Given the description of an element on the screen output the (x, y) to click on. 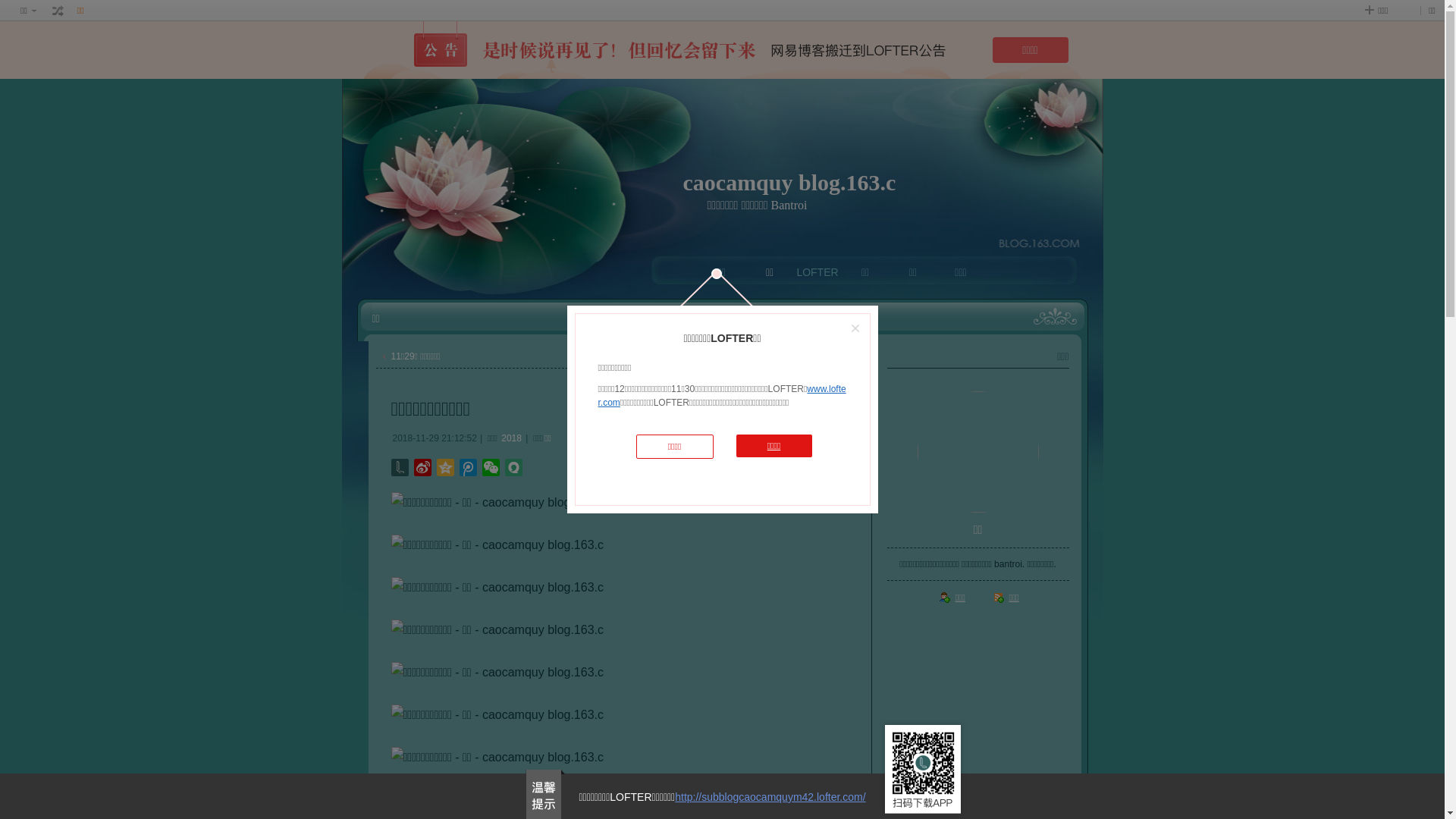
www.lofter.com Element type: text (721, 395)
2018 Element type: text (511, 438)
  Element type: text (58, 10)
http://subblogcaocamquym42.lofter.com/ Element type: text (769, 796)
LOFTER Element type: text (816, 271)
